Given the description of an element on the screen output the (x, y) to click on. 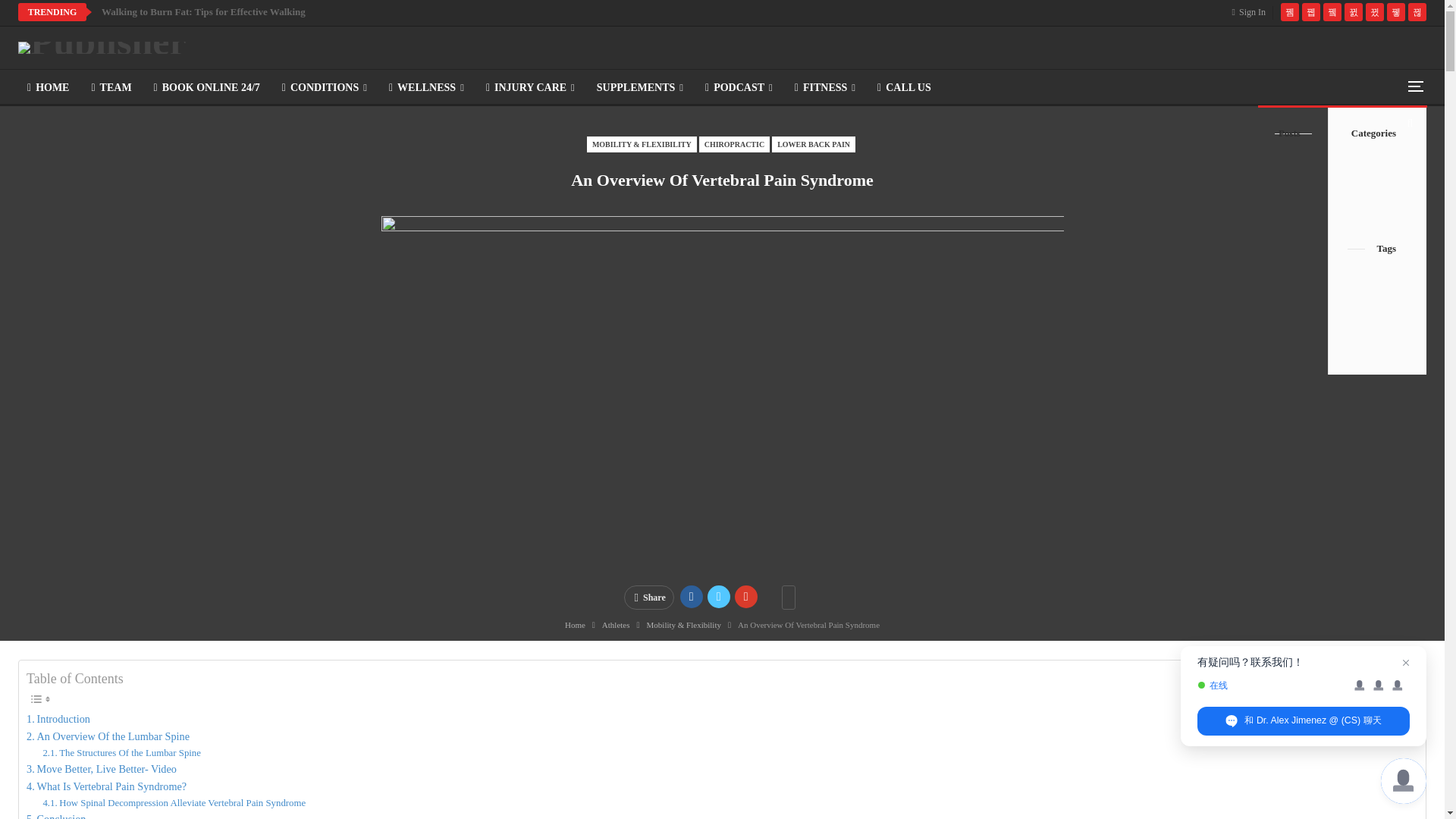
Introduction (58, 719)
The Structures Of the Lumbar Spine (121, 753)
Move Better, Live Better- Video (101, 769)
How Spinal Decompression Alleviate Vertebral Pain Syndrome (173, 803)
Conclusion (55, 814)
An Overview Of the Lumbar Spine (107, 736)
What Is Vertebral Pain Syndrome? (106, 786)
